Given the description of an element on the screen output the (x, y) to click on. 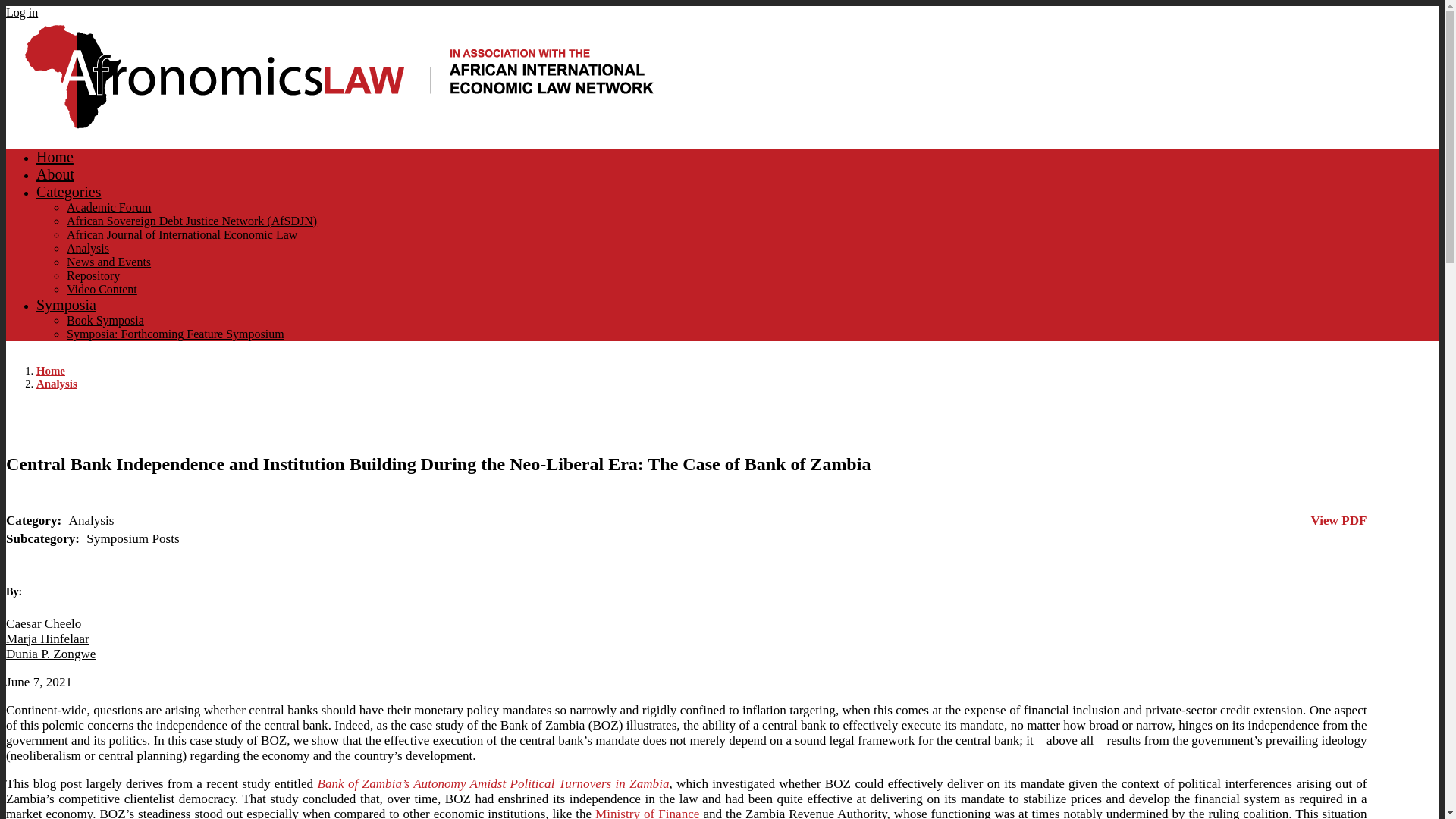
Ministry of Finance (646, 812)
Repository (92, 275)
Academic Forum (108, 206)
Analysis (87, 247)
Dunia P. Zongwe (50, 653)
African Journal of International Economic Law (181, 234)
Repository (92, 275)
View PDF (1339, 520)
Analysis (91, 520)
African Journal of International Economic Law (181, 234)
Share to WhatsApp (1314, 421)
Skip to main content (722, 7)
Symposia: Forthcoming Feature Symposium (174, 333)
Analysis (87, 247)
Share to Linkedin (1334, 421)
